Given the description of an element on the screen output the (x, y) to click on. 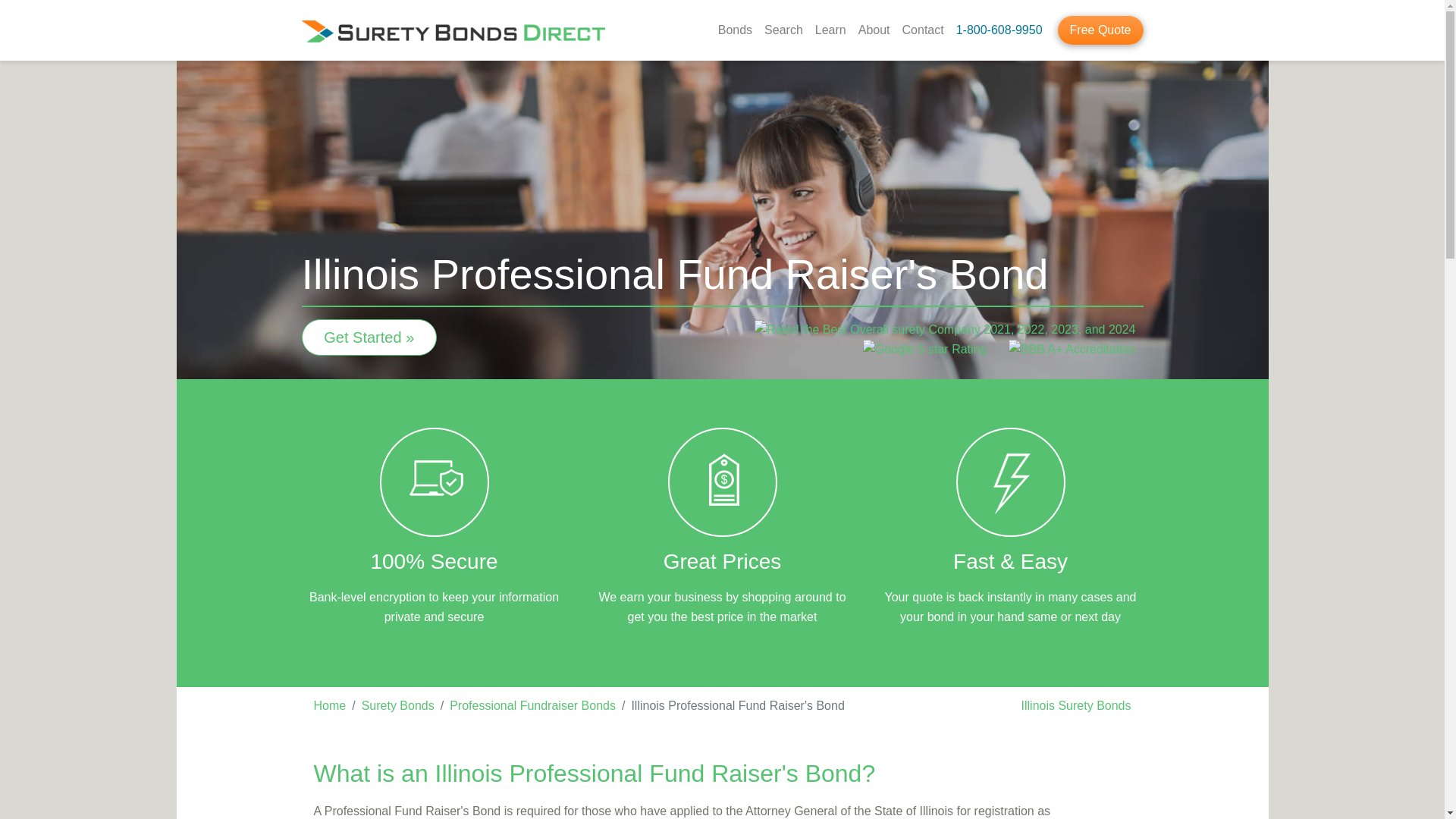
1-800-608-9950 (999, 30)
Learn (830, 30)
Professional Fundraiser Bonds (532, 705)
Bonds (734, 30)
Search (783, 30)
About (873, 30)
Free Quote (1100, 30)
Home (330, 705)
Contact (923, 30)
